Given the description of an element on the screen output the (x, y) to click on. 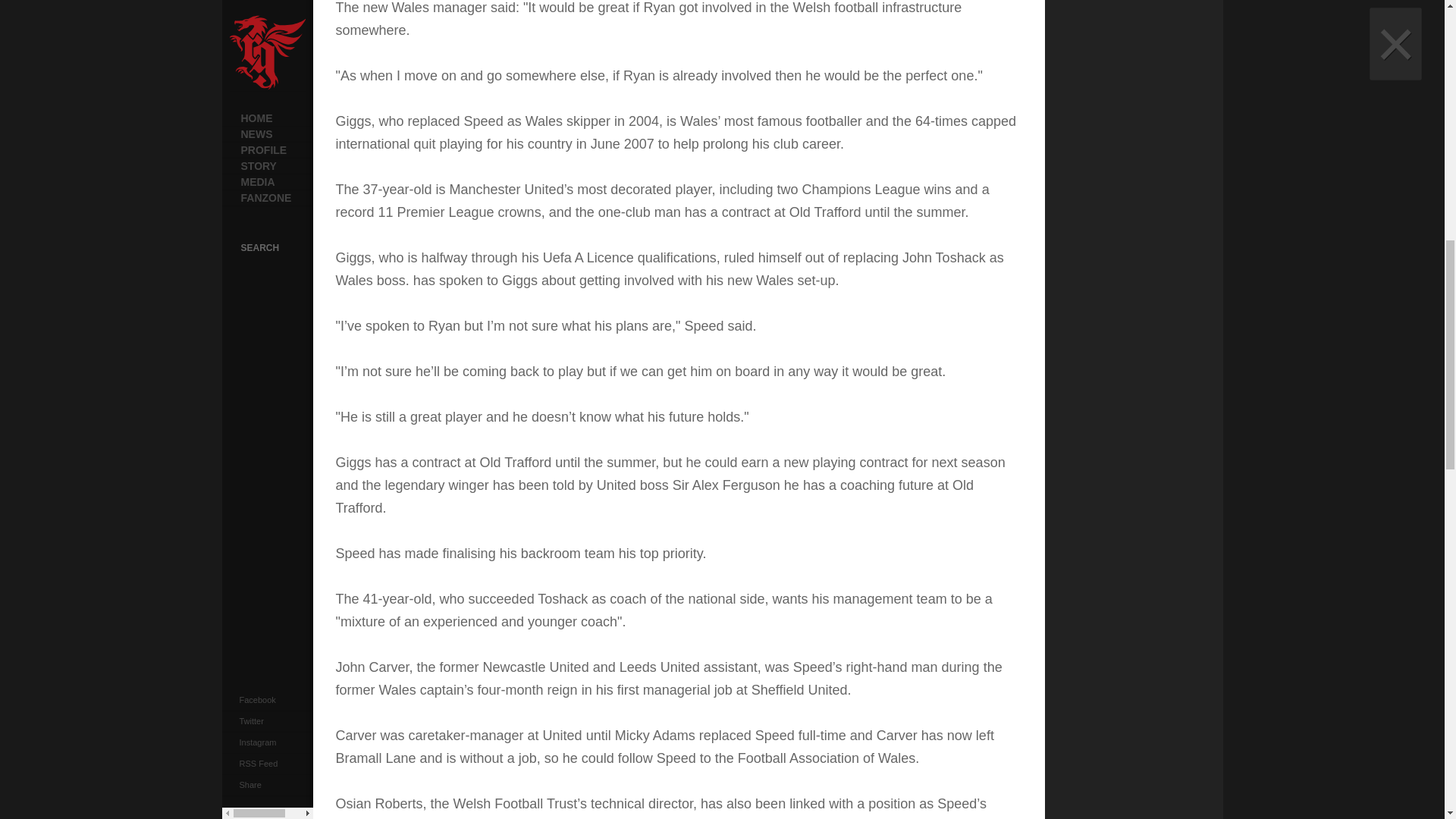
Advertisement (1158, 168)
Share this Ryan Giggs related content (243, 2)
